Given the description of an element on the screen output the (x, y) to click on. 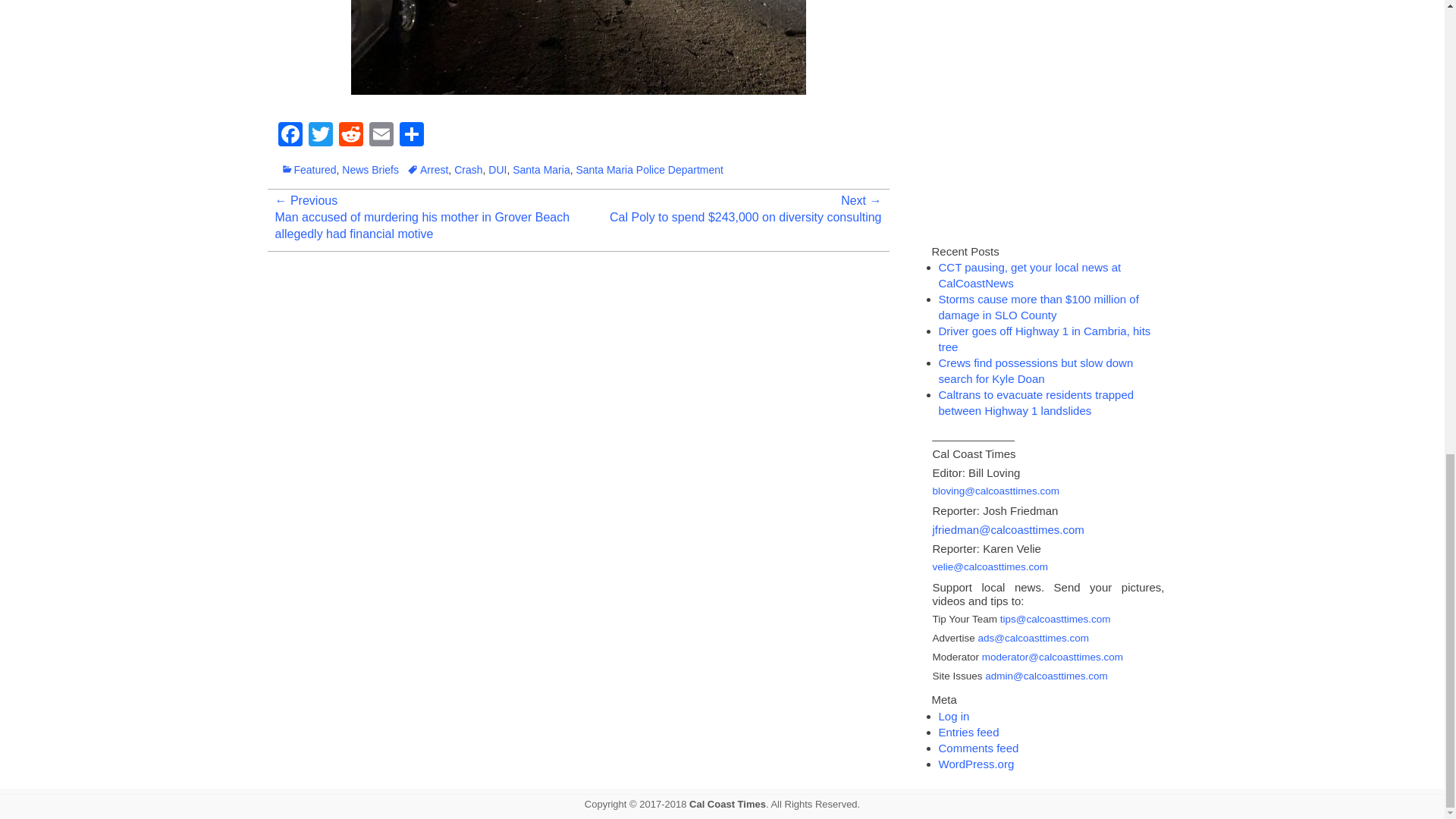
Email (380, 135)
DUI (496, 169)
Arrest (427, 169)
Driver goes off Highway 1 in Cambria, hits tree (1045, 338)
Facebook (289, 135)
Santa Maria Police Department (649, 169)
Twitter (319, 135)
Crash (467, 169)
Share (411, 135)
Twitter (319, 135)
Facebook (289, 135)
Crews find possessions but slow down search for Kyle Doan (1036, 370)
Santa Maria (540, 169)
News Briefs (370, 169)
Email (380, 135)
